Given the description of an element on the screen output the (x, y) to click on. 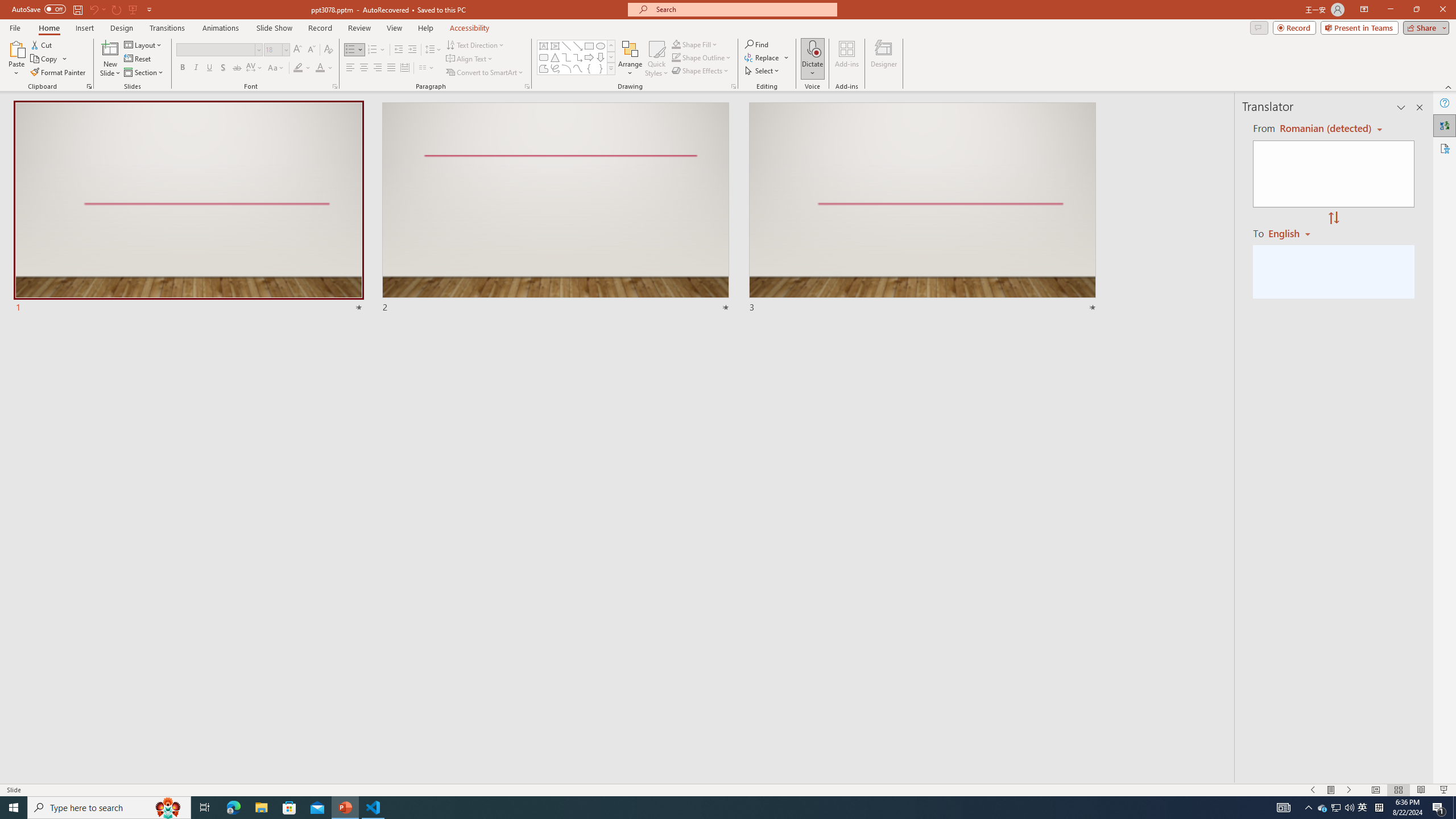
Clear Formatting (327, 49)
Increase Font Size (297, 49)
Line (566, 45)
Align Left (349, 67)
Connector: Elbow (566, 57)
Romanian (1293, 232)
Font Color Red (320, 67)
Italic (195, 67)
Columns (426, 67)
